Given the description of an element on the screen output the (x, y) to click on. 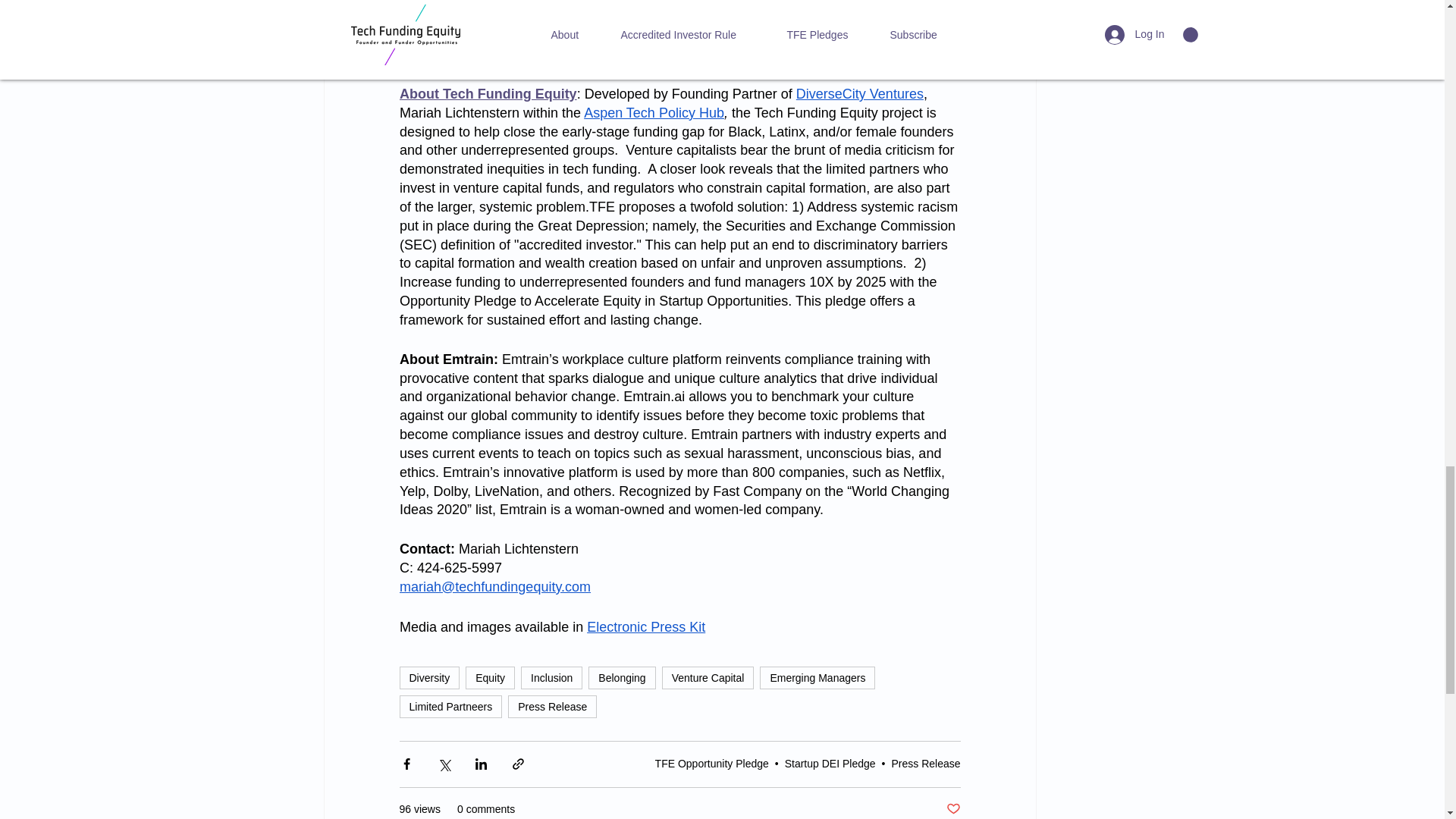
Aspen Tech Policy Hub (653, 112)
Electronic Press Kit (645, 626)
About Tech Funding Equity (487, 93)
DiverseCity Ventures (858, 93)
